Given the description of an element on the screen output the (x, y) to click on. 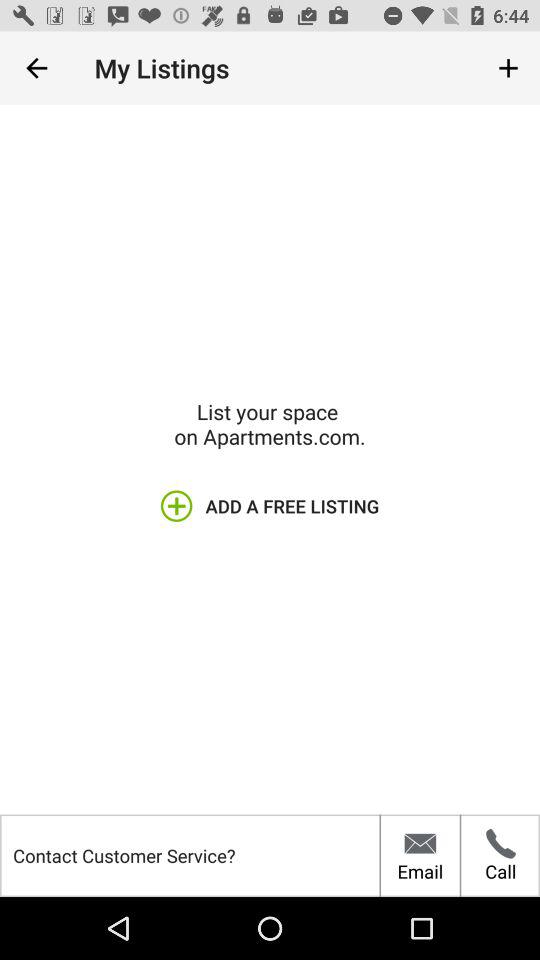
flip to the call (500, 855)
